Given the description of an element on the screen output the (x, y) to click on. 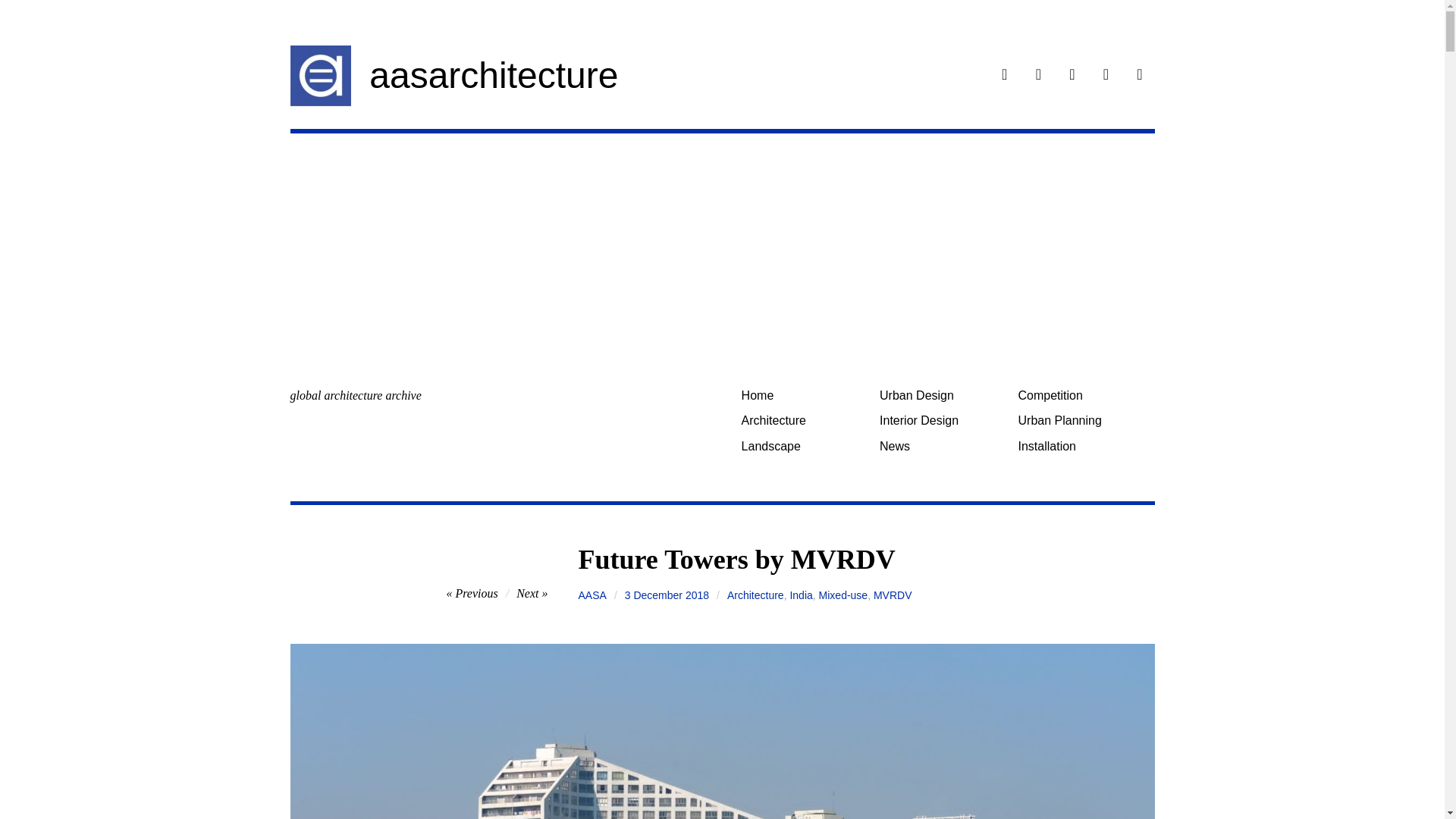
MVRDV (892, 595)
India (800, 595)
Pinterest (1105, 75)
aasarchitecture (493, 75)
Architecture (755, 595)
Instagram (1038, 75)
Landscape (804, 445)
Competition (1080, 395)
Installation (1080, 445)
News (942, 445)
